Given the description of an element on the screen output the (x, y) to click on. 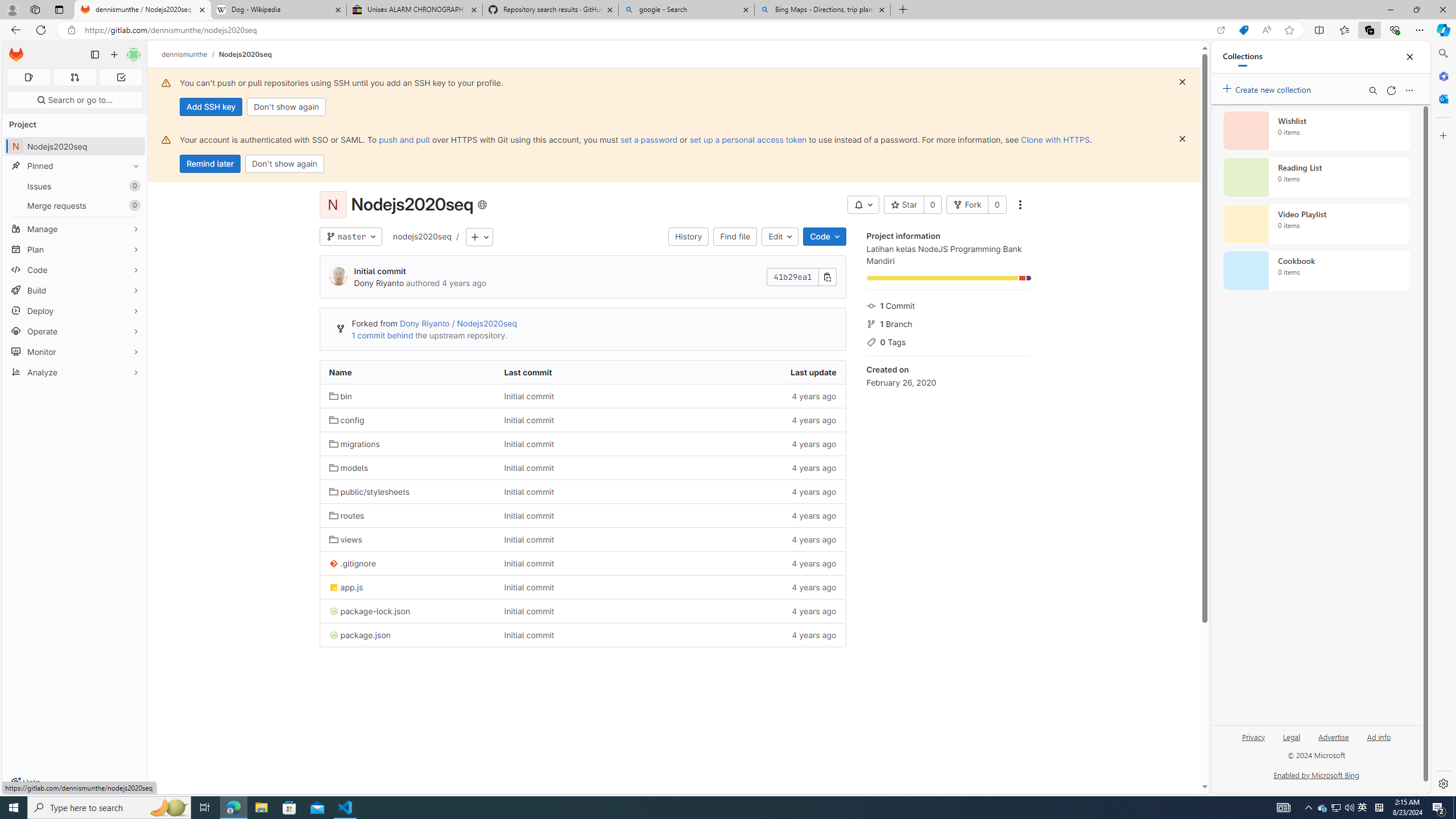
Find file (735, 236)
Monitor (74, 351)
Ad info (1378, 741)
public/stylesheets (369, 491)
Pinned (74, 165)
Dismiss (1181, 138)
Issues 0 (74, 185)
1 Commit (948, 304)
push and pull (403, 139)
More options menu (1409, 90)
models (407, 467)
